Given the description of an element on the screen output the (x, y) to click on. 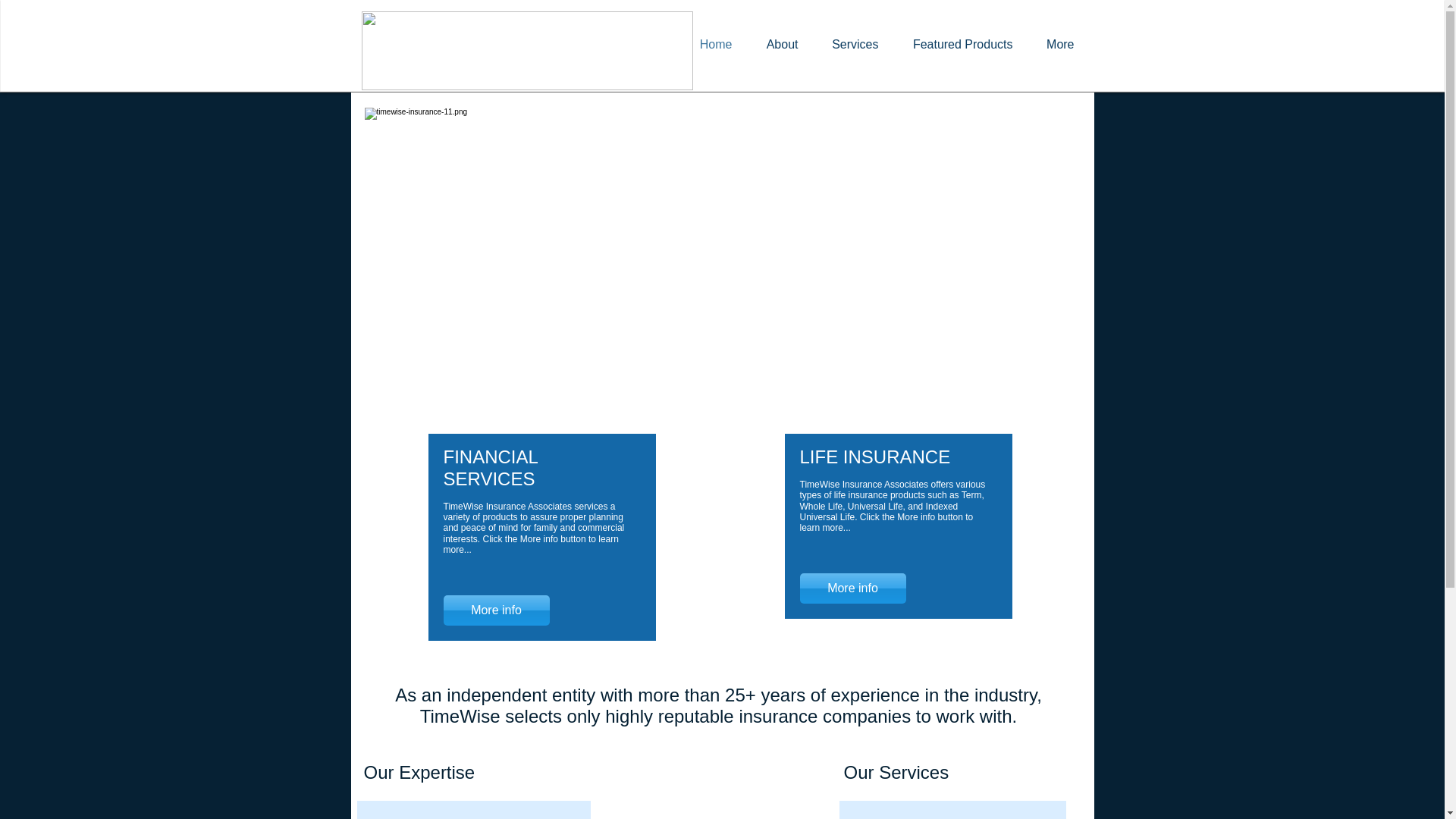
More info (495, 610)
Services (852, 44)
Featured Products (960, 44)
Home (712, 44)
logo.png (527, 50)
More info (852, 588)
About (780, 44)
